Given the description of an element on the screen output the (x, y) to click on. 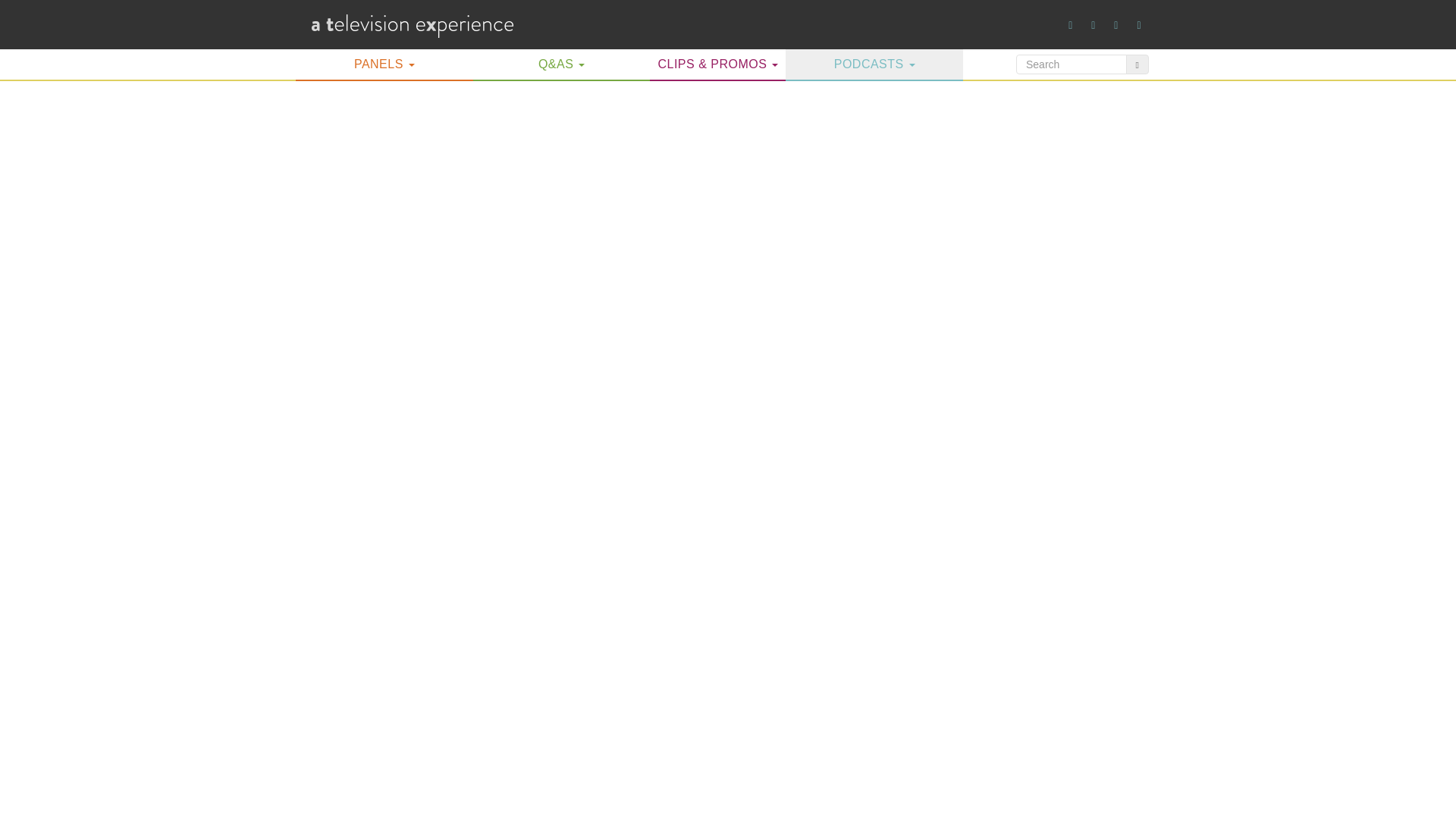
Panels (384, 65)
PANELS (384, 65)
PODCASTS (874, 65)
